Given the description of an element on the screen output the (x, y) to click on. 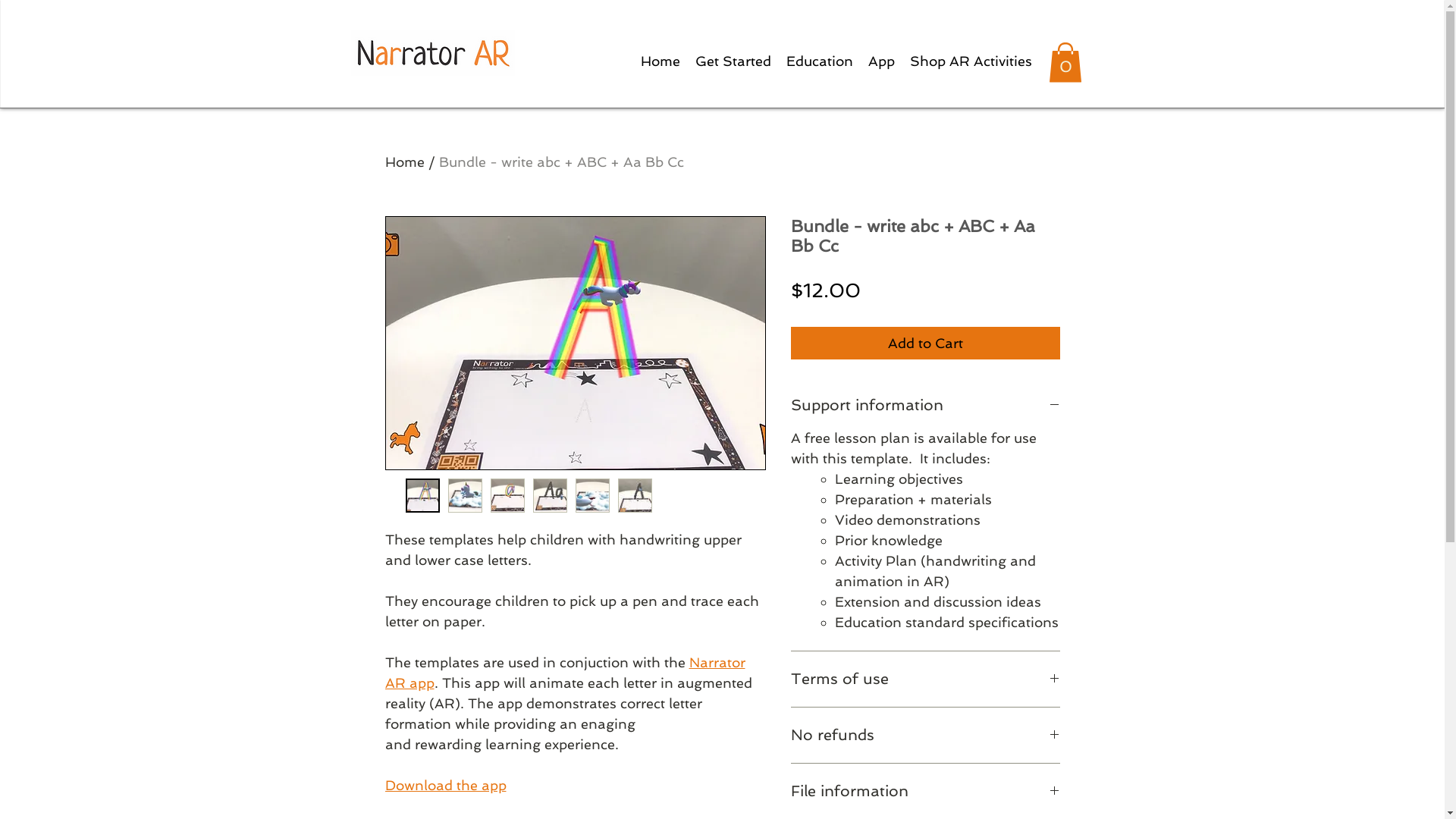
Education Element type: text (818, 61)
0 Element type: text (1064, 62)
Terms of use Element type: text (924, 678)
Add to Cart Element type: text (924, 342)
Download the app Element type: text (445, 785)
App Element type: text (880, 61)
No refunds Element type: text (924, 734)
File information Element type: text (924, 790)
Narrator AR app Element type: text (565, 672)
Home Element type: text (659, 61)
Home Element type: text (404, 161)
Support information Element type: text (924, 404)
Get Started Element type: text (732, 61)
Shop AR Activities Element type: text (970, 61)
